Given the description of an element on the screen output the (x, y) to click on. 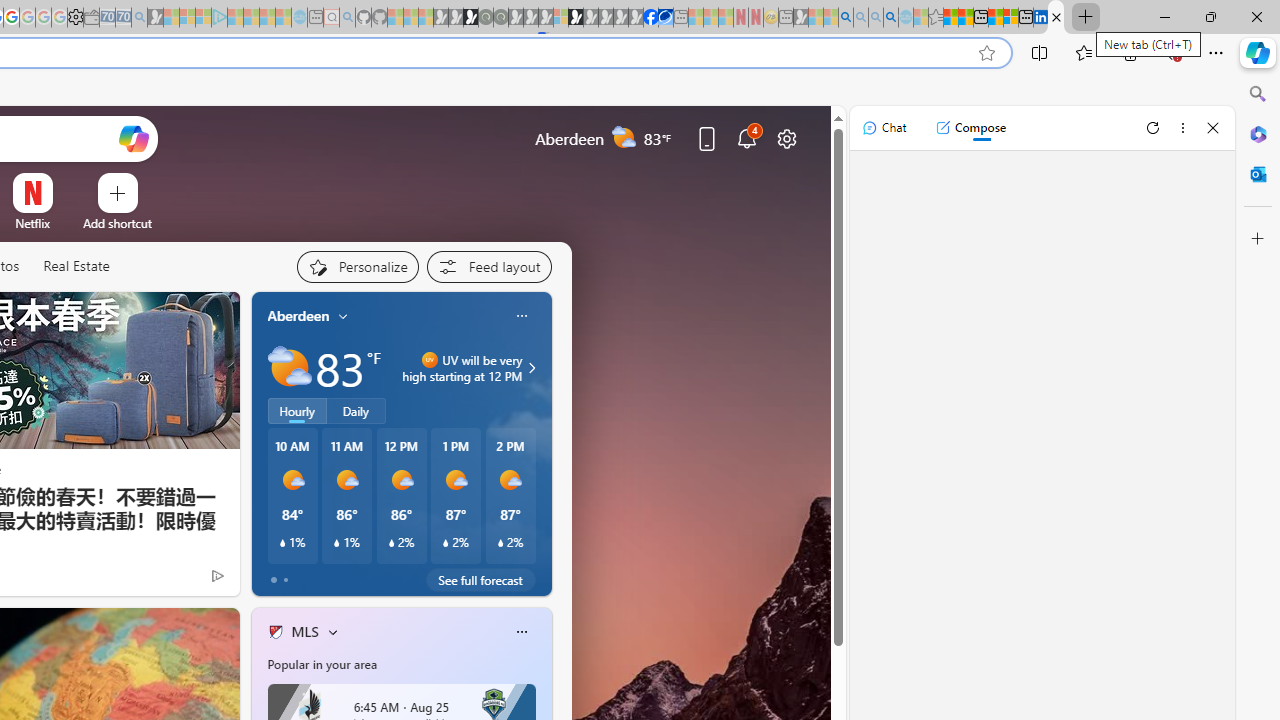
Compose (970, 128)
MLS (304, 631)
Favorites - Sleeping (936, 17)
Aberdeen (298, 315)
Sign in to your account - Sleeping (561, 17)
Future Focus Report 2024 - Sleeping (501, 17)
Real Estate (75, 267)
Chat (884, 128)
